Given the description of an element on the screen output the (x, y) to click on. 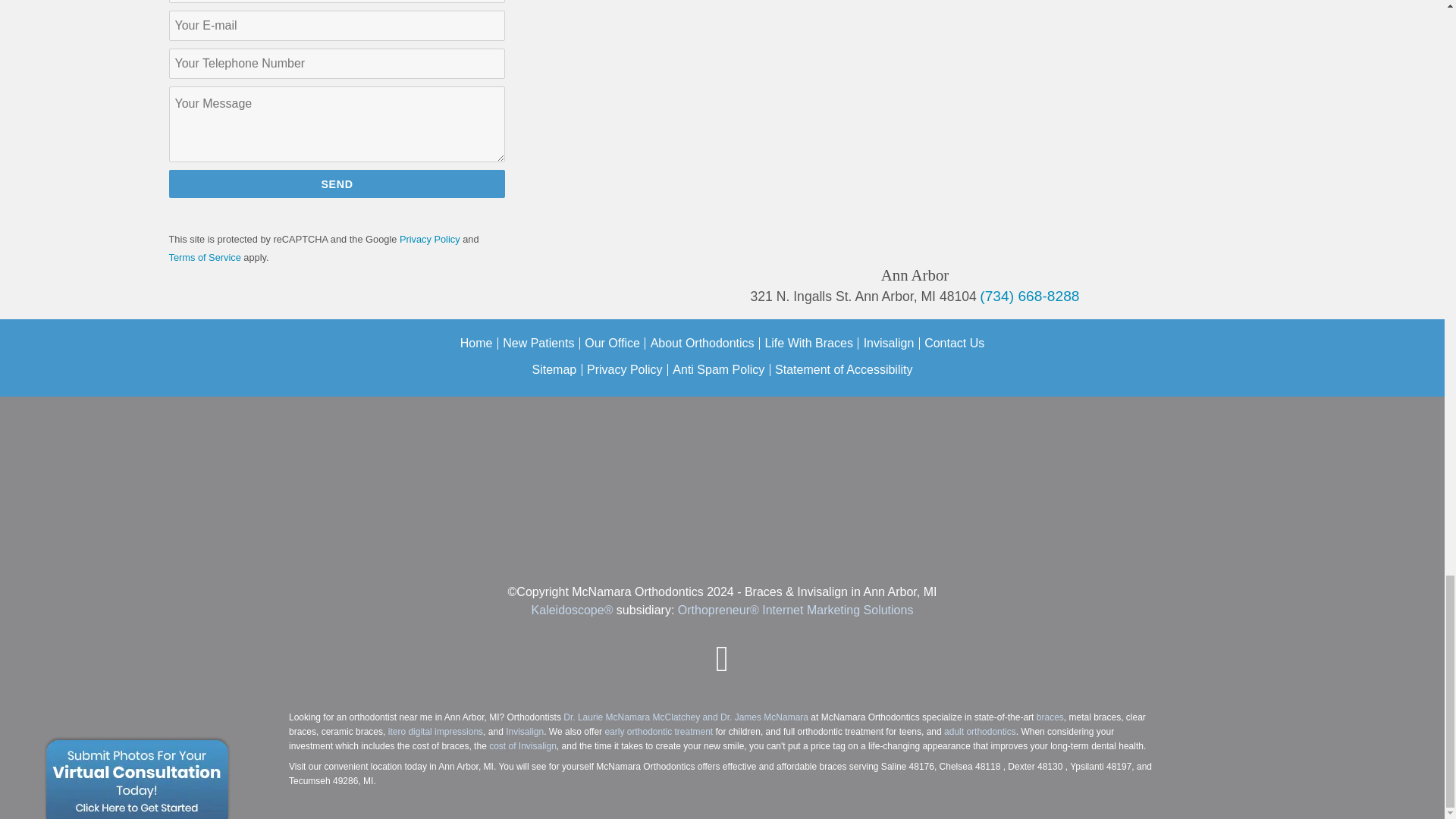
Send (336, 183)
